Given the description of an element on the screen output the (x, y) to click on. 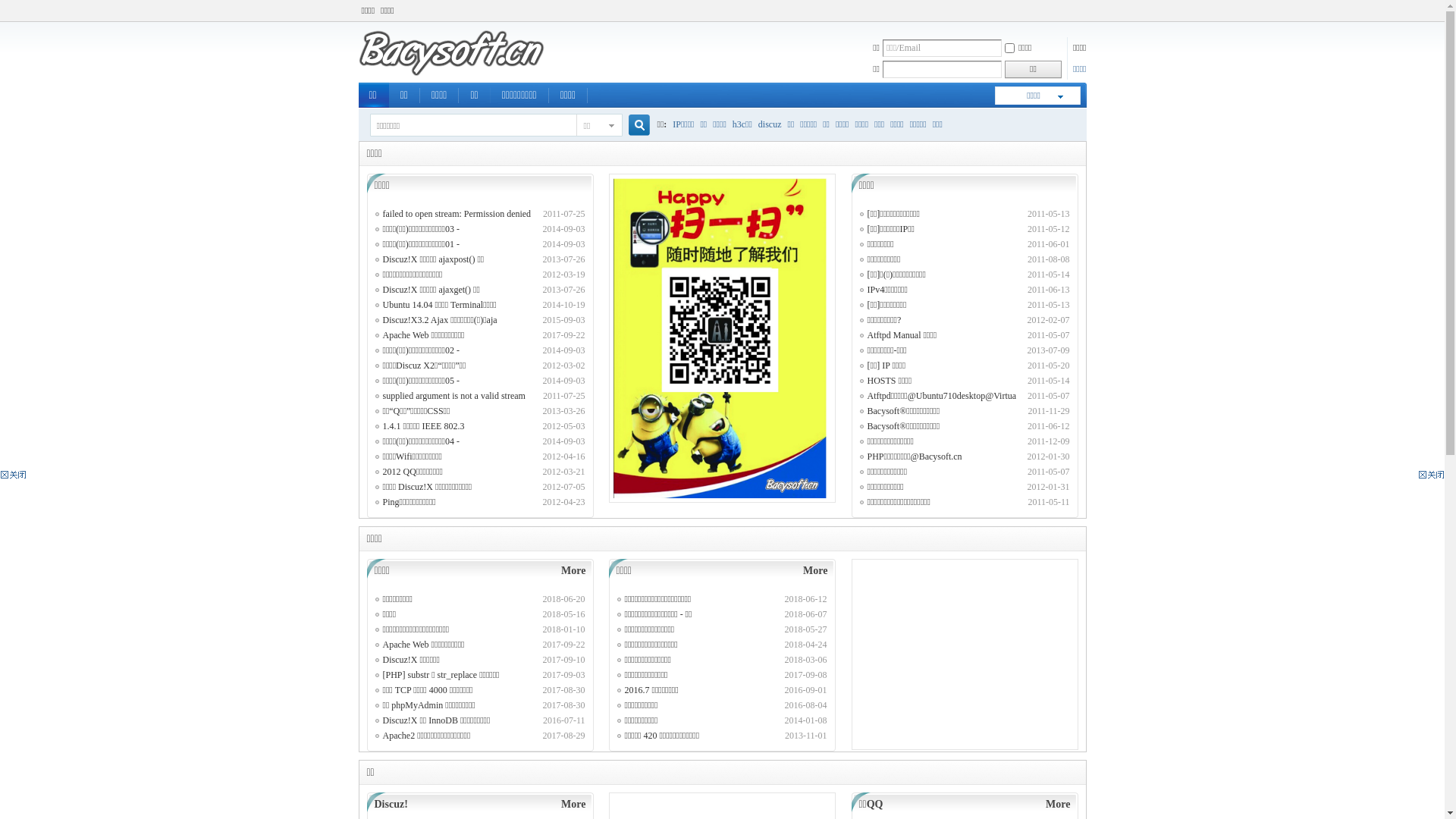
Advertisement Element type: hover (45, 242)
failed to open stream: Permission denied Element type: text (456, 213)
alipay hongbao Element type: hover (718, 338)
discuz Element type: text (769, 124)
Advertisement Element type: hover (1398, 242)
true Element type: text (632, 125)
More Element type: text (573, 570)
More Element type: text (573, 803)
Advertisement Element type: hover (964, 654)
supplied argument is not a valid stream Element type: text (453, 395)
More Element type: text (1057, 803)
More Element type: text (815, 570)
Bacysoft.cn Element type: hover (450, 73)
